Given the description of an element on the screen output the (x, y) to click on. 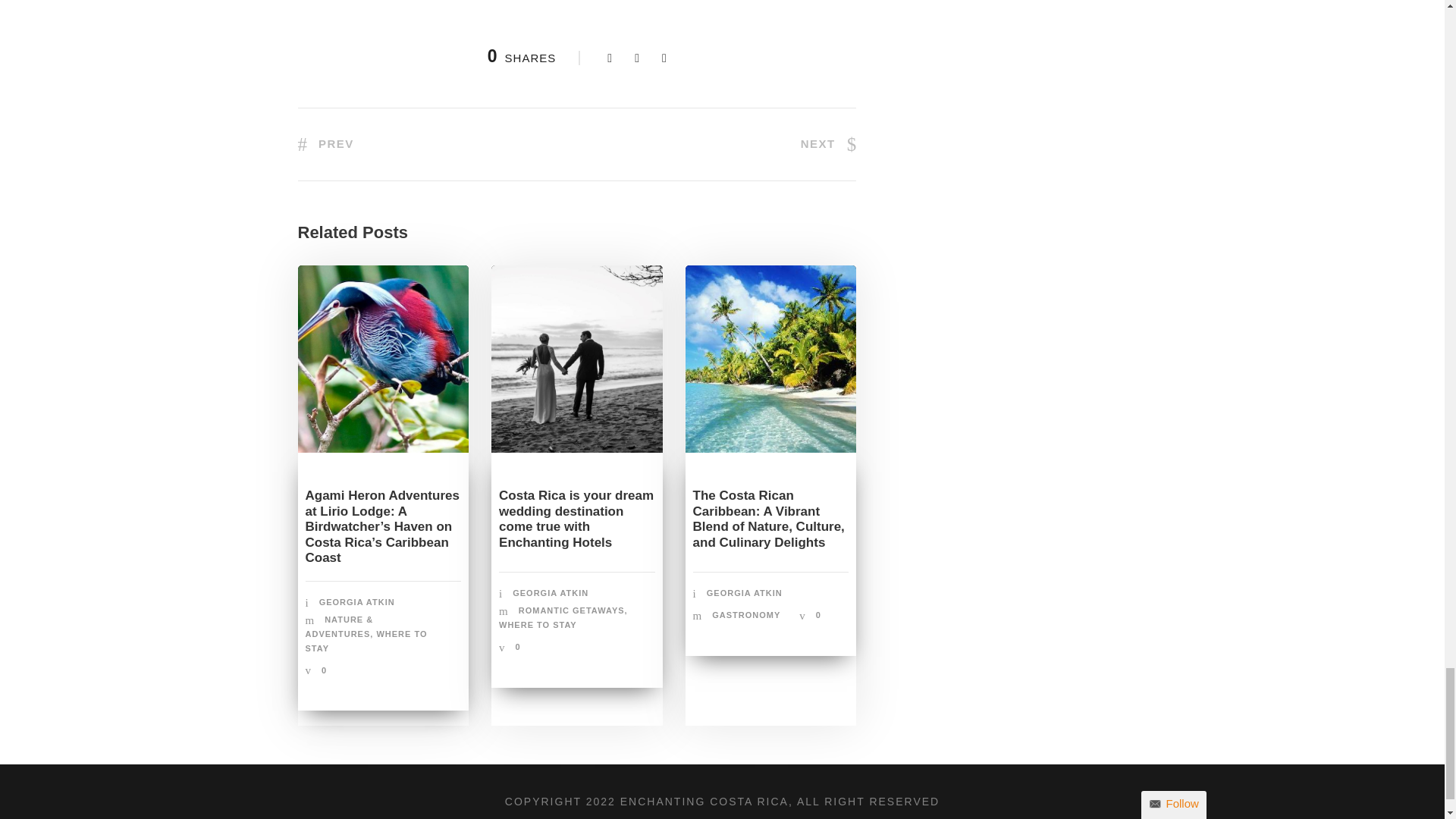
agami-heron-birding-tour-p (382, 358)
Posts by Georgia Atkin (550, 592)
Posts by Georgia Atkin (744, 592)
tropical weddings Santa Teresa costa rica Pranamar (577, 358)
PREV (325, 143)
Caribbean Coast in Costa Rica (771, 358)
Posts by Georgia Atkin (356, 601)
